Given the description of an element on the screen output the (x, y) to click on. 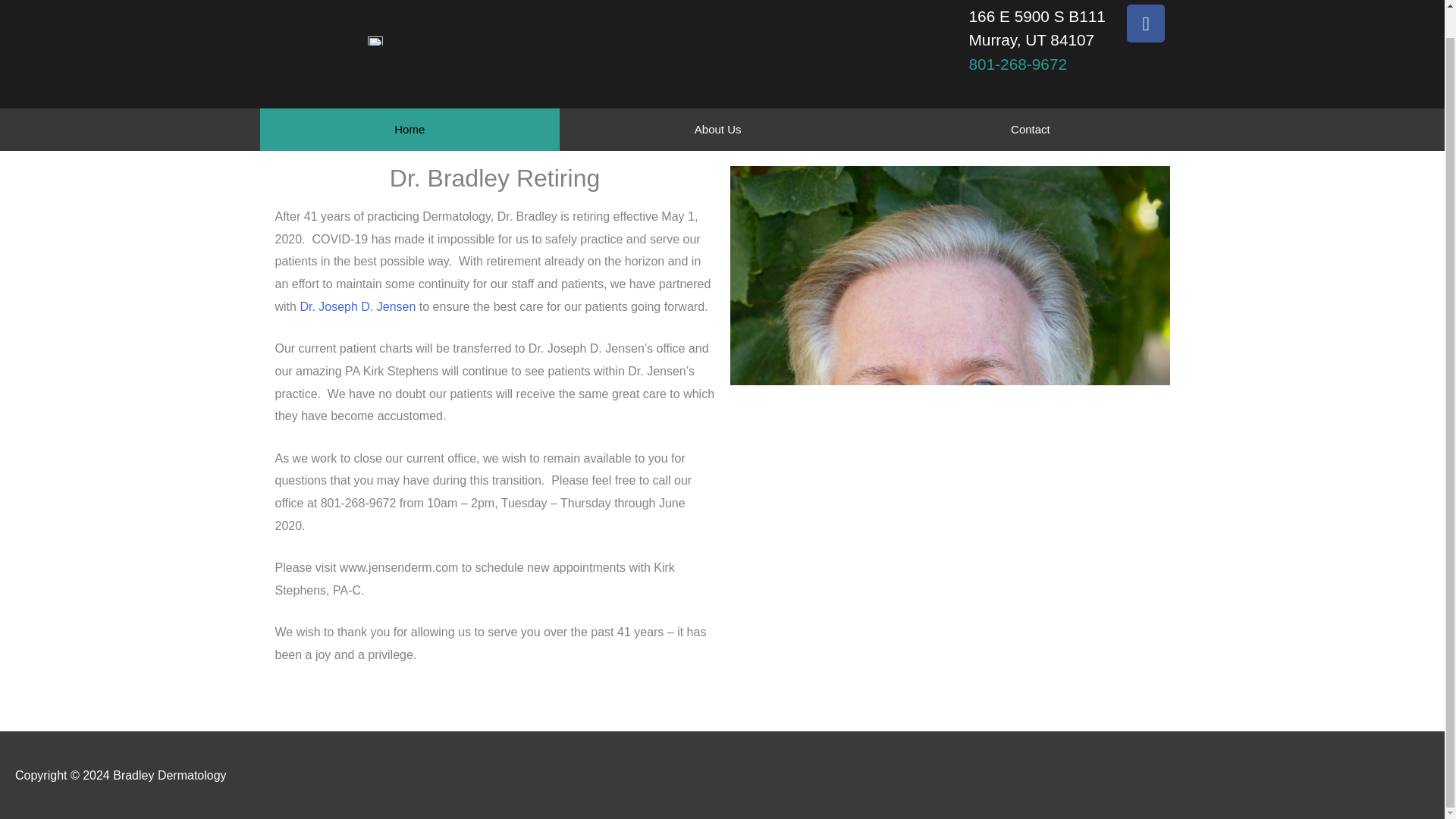
About Us (717, 129)
Home (409, 129)
Contact (1030, 129)
801-268-9672 (1018, 63)
Dr. Joseph D. Jensen (356, 306)
